Given the description of an element on the screen output the (x, y) to click on. 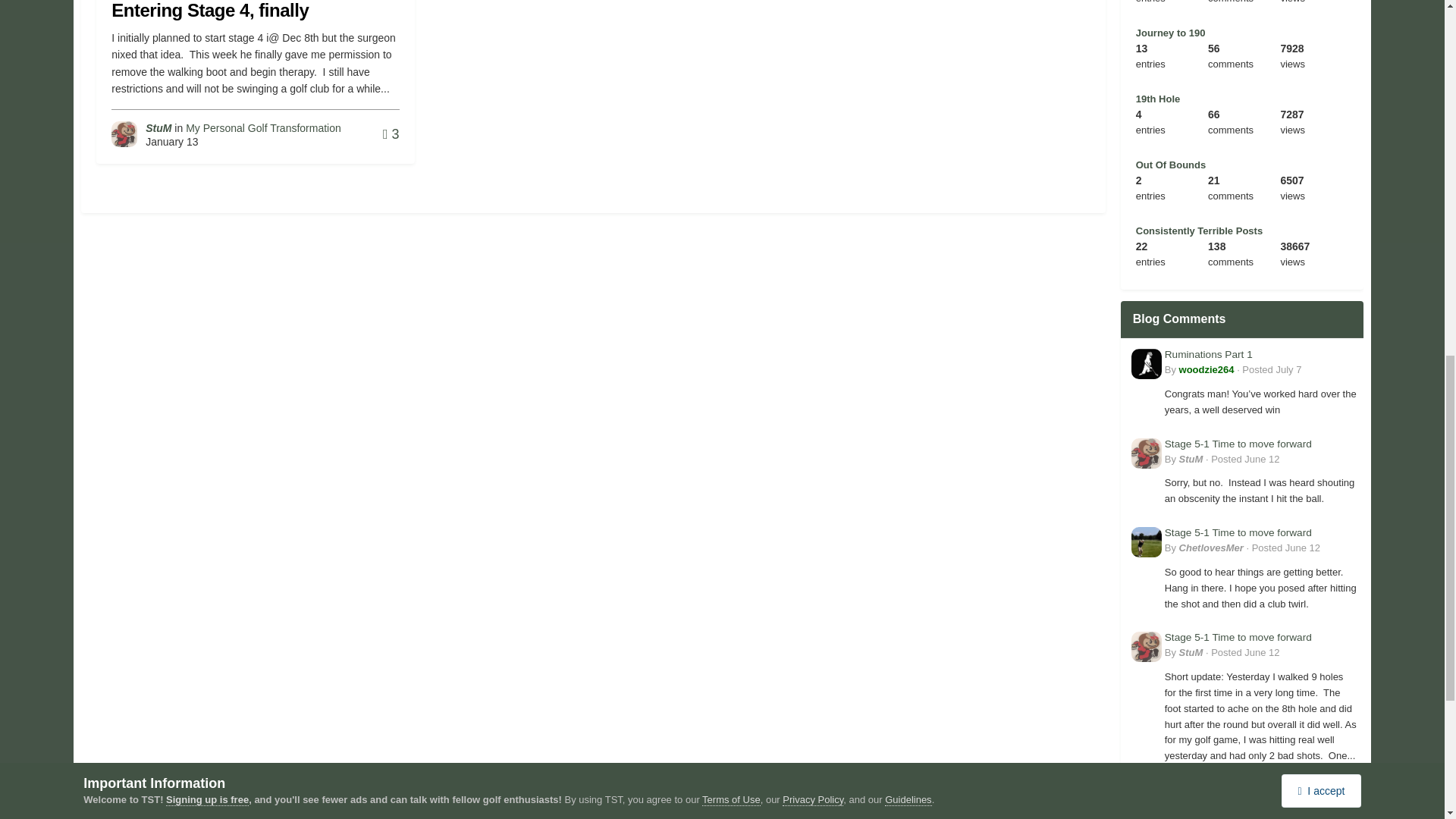
View this blog (1157, 98)
View this blog (1170, 32)
Go to StuM's profile (158, 128)
Read more about Entering Stage 4, finally (210, 10)
Go to StuM's profile (124, 134)
View this blog (1170, 164)
View comments (390, 133)
